Given the description of an element on the screen output the (x, y) to click on. 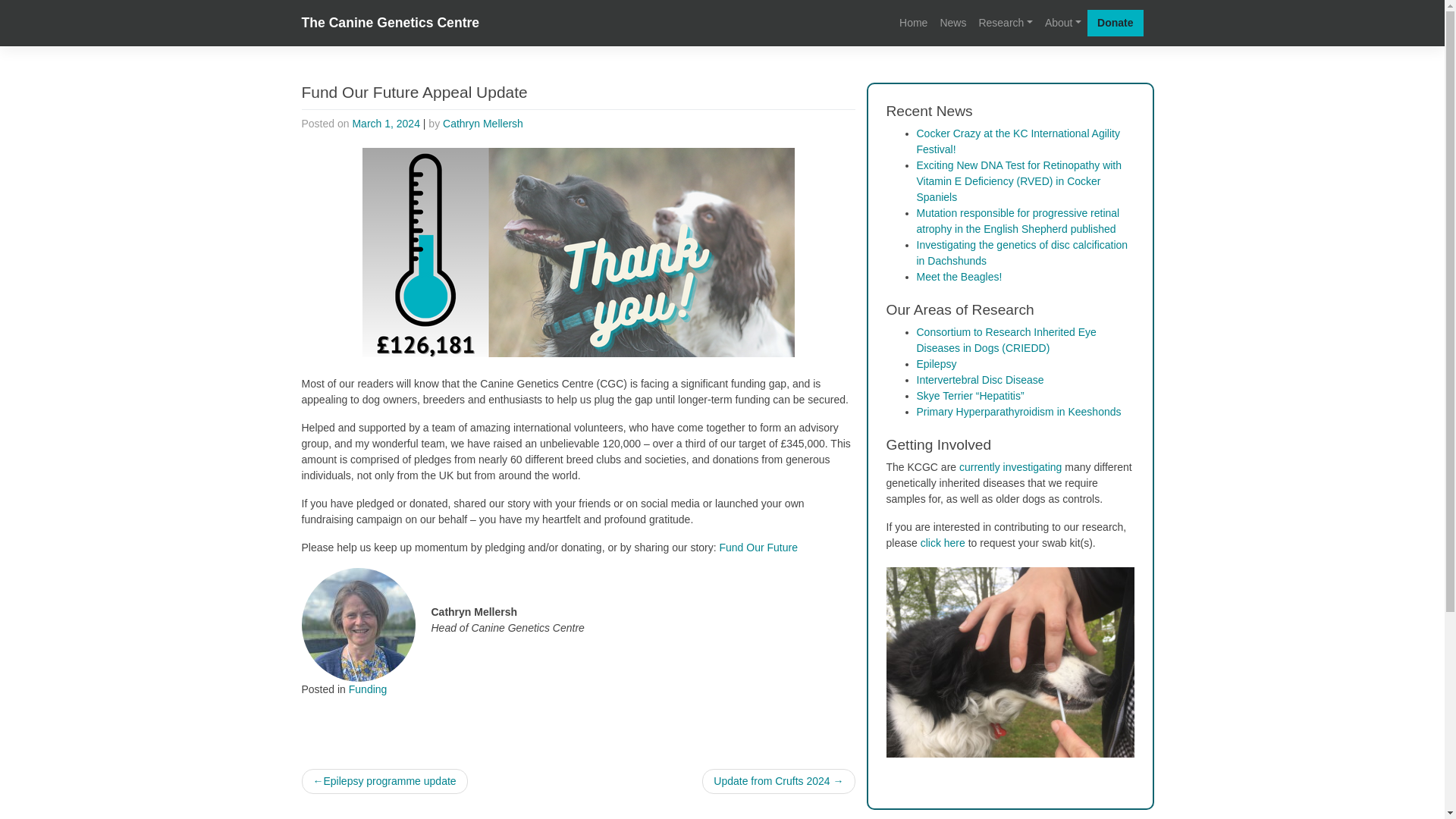
Fund Our Future (758, 547)
Donate (1114, 22)
News (952, 22)
Cathryn Mellersh (482, 123)
News (952, 22)
The Canine Genetics Centre (390, 22)
Meet the Beagles! (958, 276)
Epilepsy programme update (384, 781)
Update from Crufts 2024 (777, 781)
